Given the description of an element on the screen output the (x, y) to click on. 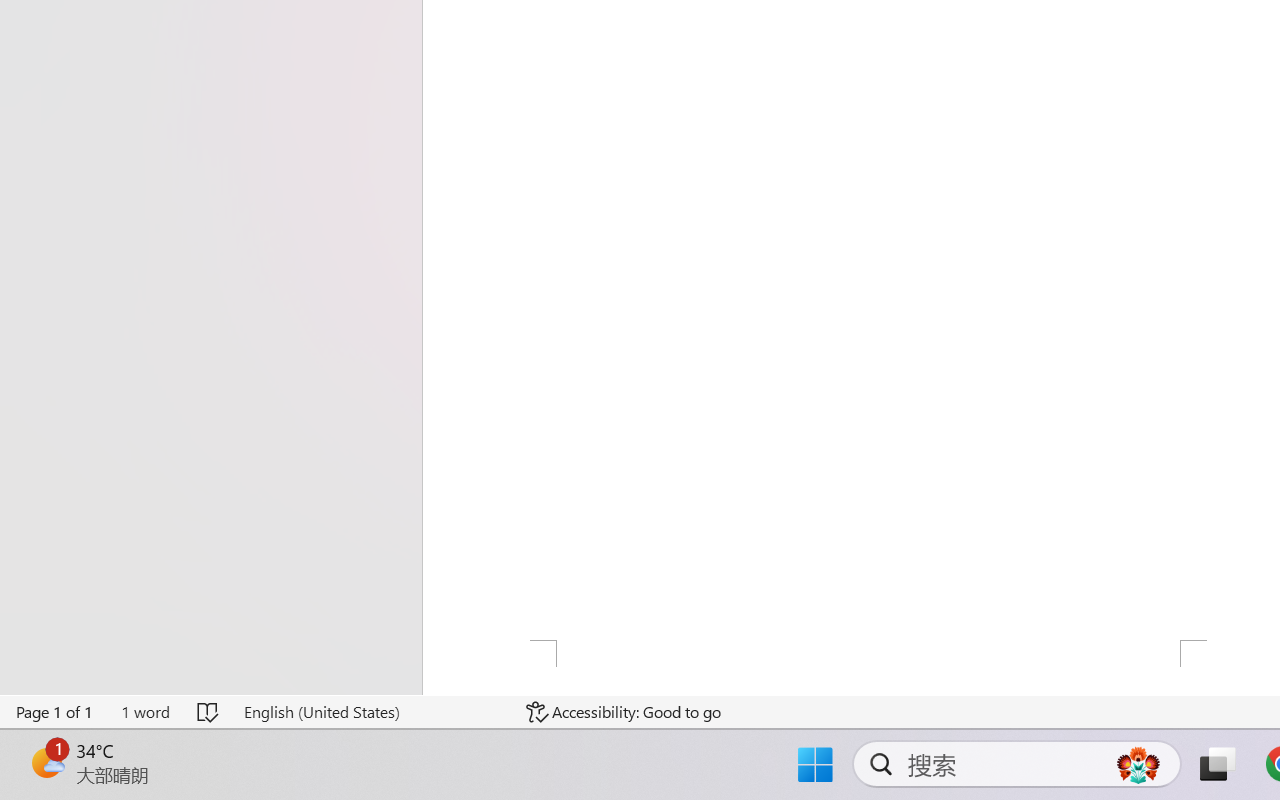
AutomationID: BadgeAnchorLargeTicker (46, 762)
Spelling and Grammar Check No Errors (208, 712)
Word Count 1 word (145, 712)
AutomationID: DynamicSearchBoxGleamImage (1138, 764)
Language English (United States) (370, 712)
Accessibility Checker Accessibility: Good to go (623, 712)
Page Number Page 1 of 1 (55, 712)
